Given the description of an element on the screen output the (x, y) to click on. 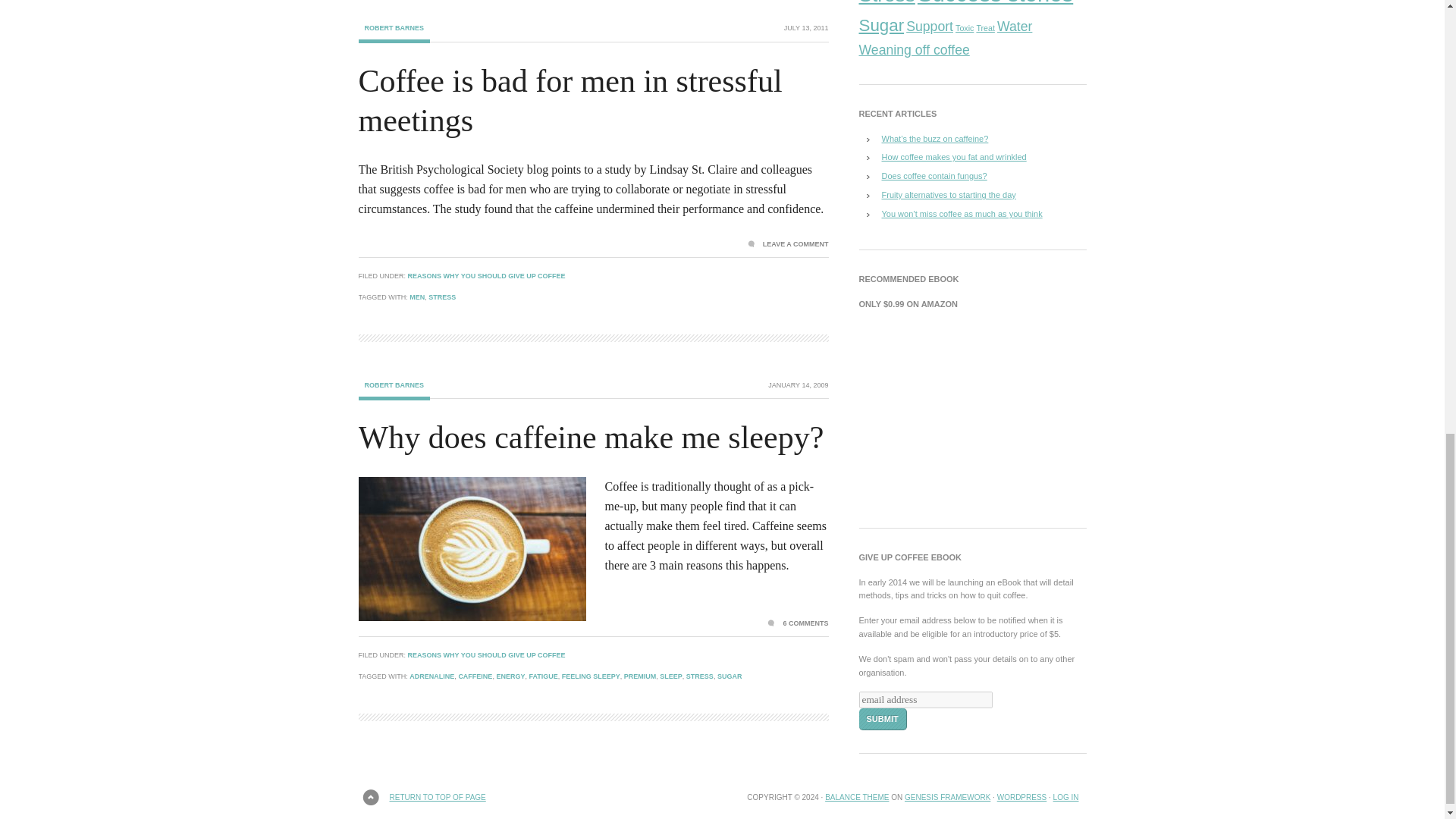
LEAVE A COMMENT (788, 244)
MEN (417, 297)
Why does caffeine make me sleepy? (591, 437)
STRESS (441, 297)
ROBERT BARNES (393, 390)
ROBERT BARNES (393, 33)
REASONS WHY YOU SHOULD GIVE UP COFFEE (486, 275)
REASONS WHY YOU SHOULD GIVE UP COFFEE (486, 655)
Coffee is bad for men in stressful meetings (569, 100)
Submit (882, 719)
ADRENALINE (431, 676)
